Given the description of an element on the screen output the (x, y) to click on. 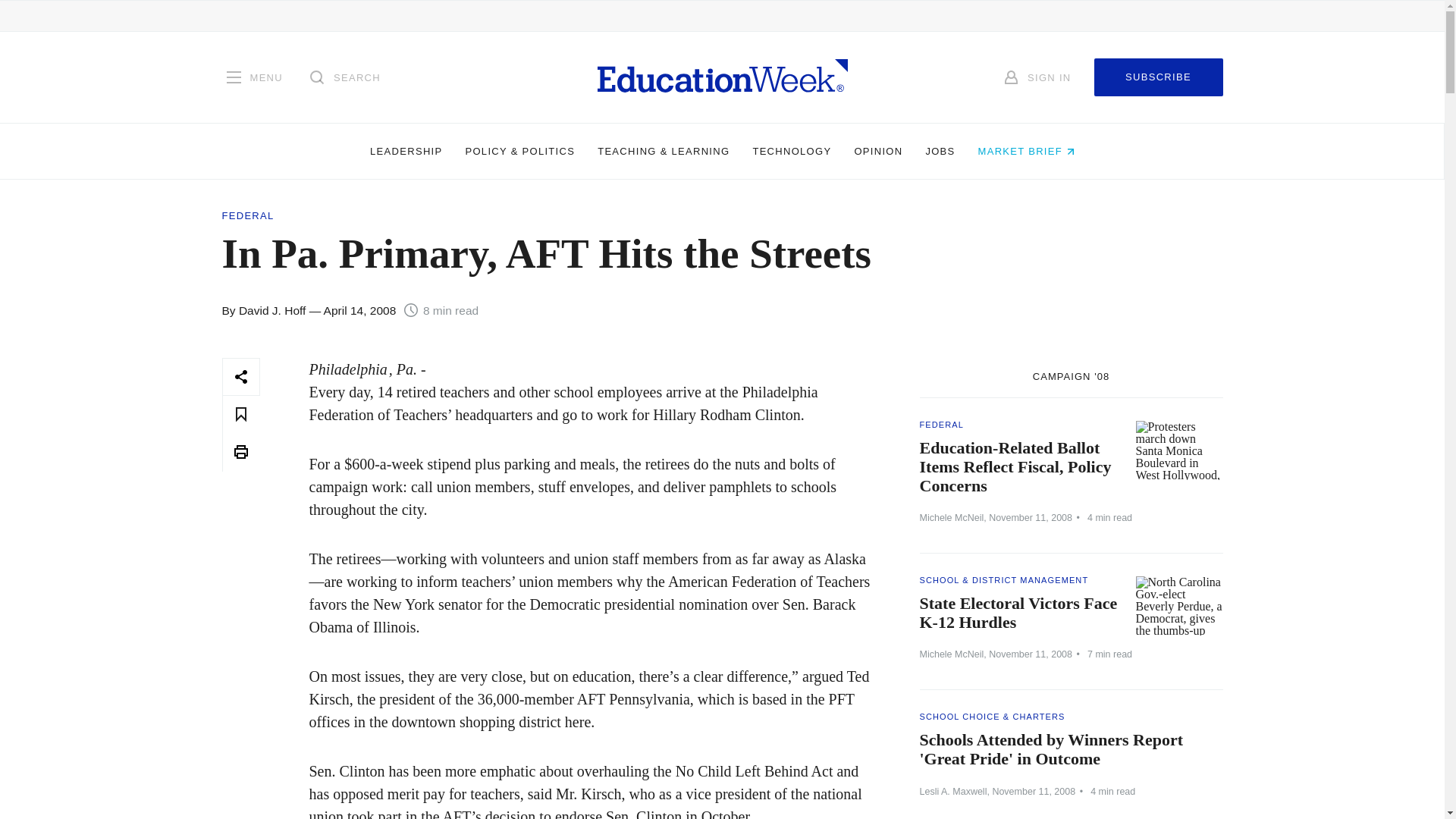
Homepage (721, 76)
